Given the description of an element on the screen output the (x, y) to click on. 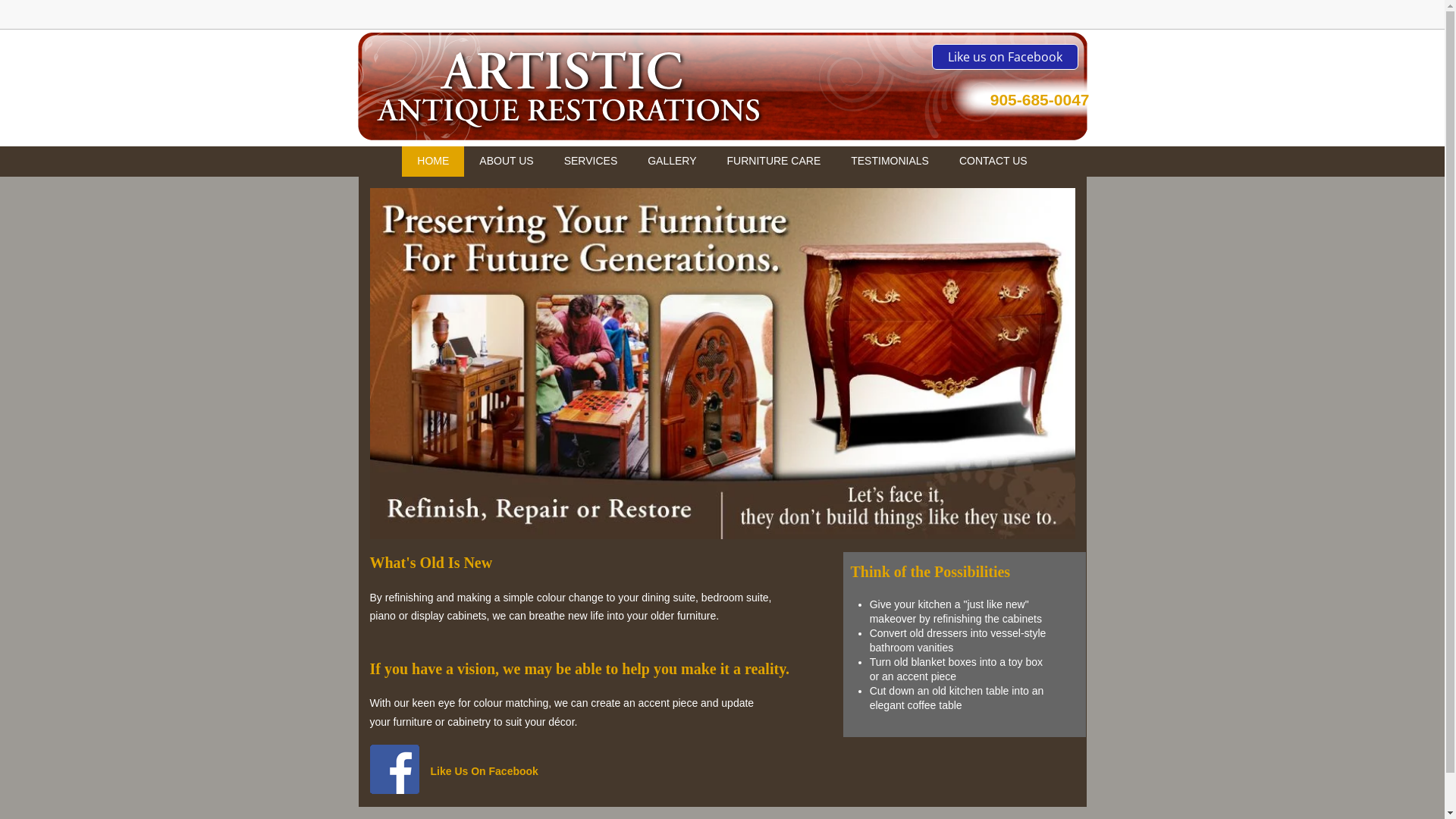
GALLERY Element type: text (671, 161)
905-685-0047 Element type: text (1039, 102)
TESTIMONIALS Element type: text (889, 161)
HOME Element type: text (432, 161)
ABOUT US Element type: text (506, 161)
CONTACT US Element type: text (993, 161)
Embedded Content Element type: hover (1069, 19)
Like us on Facebook Element type: text (1004, 56)
Like Us On Facebook Element type: text (484, 772)
FURNITURE CARE Element type: text (774, 161)
Embedded Content Element type: hover (944, 22)
SERVICES Element type: text (591, 161)
